Given the description of an element on the screen output the (x, y) to click on. 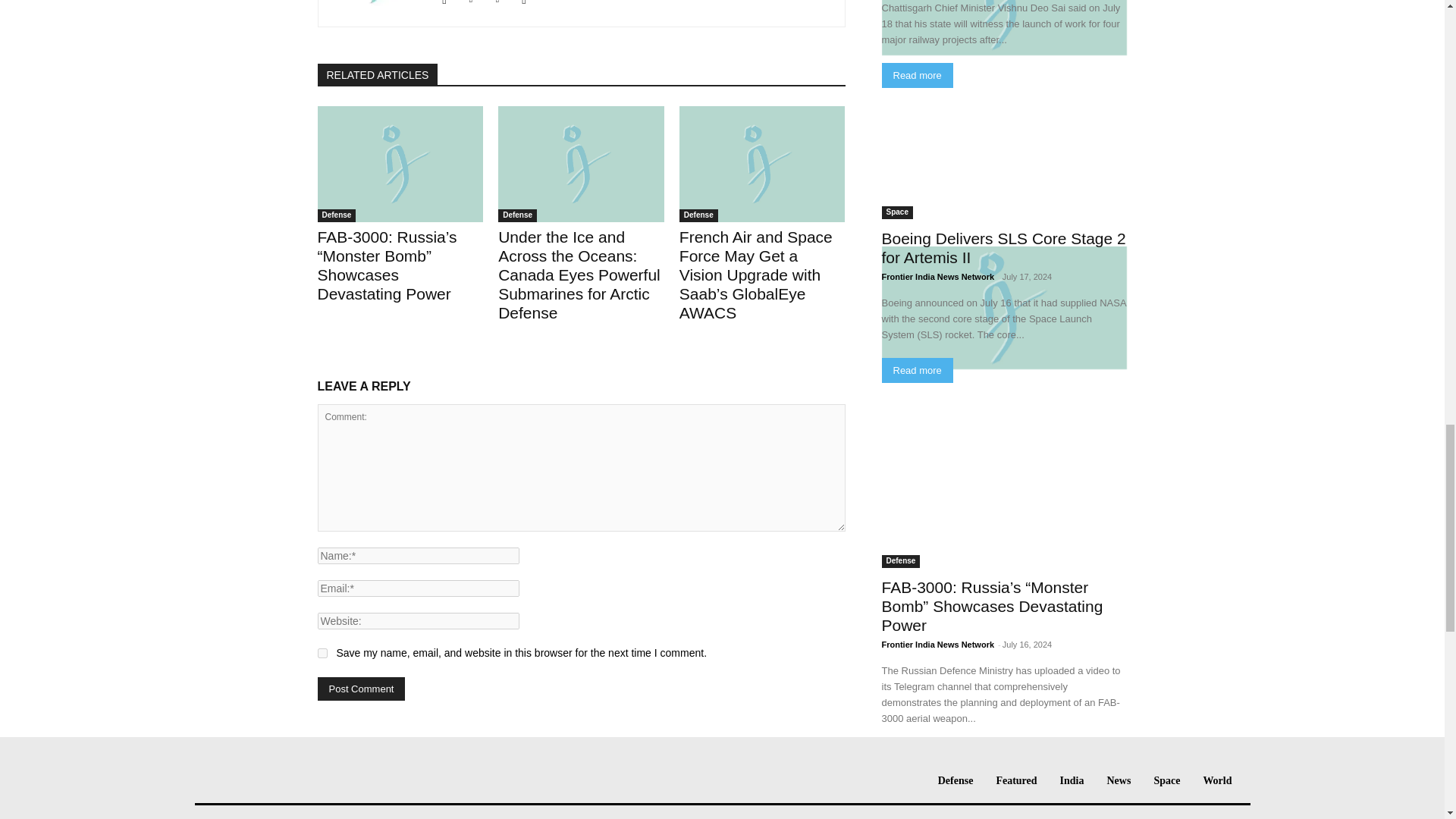
Post Comment (360, 689)
yes (321, 653)
